Given the description of an element on the screen output the (x, y) to click on. 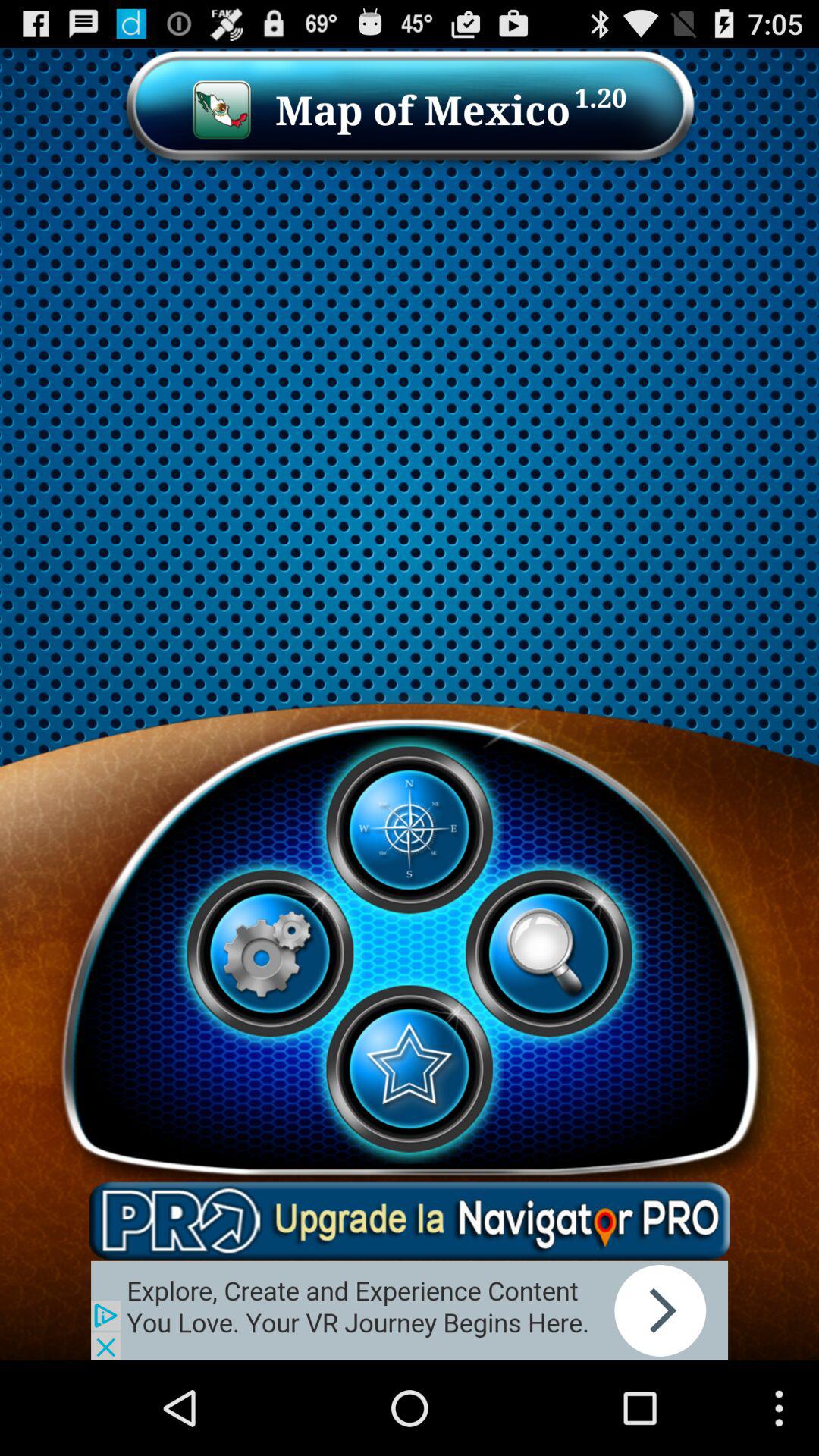
click on the magnifying glass (548, 953)
